Given the description of an element on the screen output the (x, y) to click on. 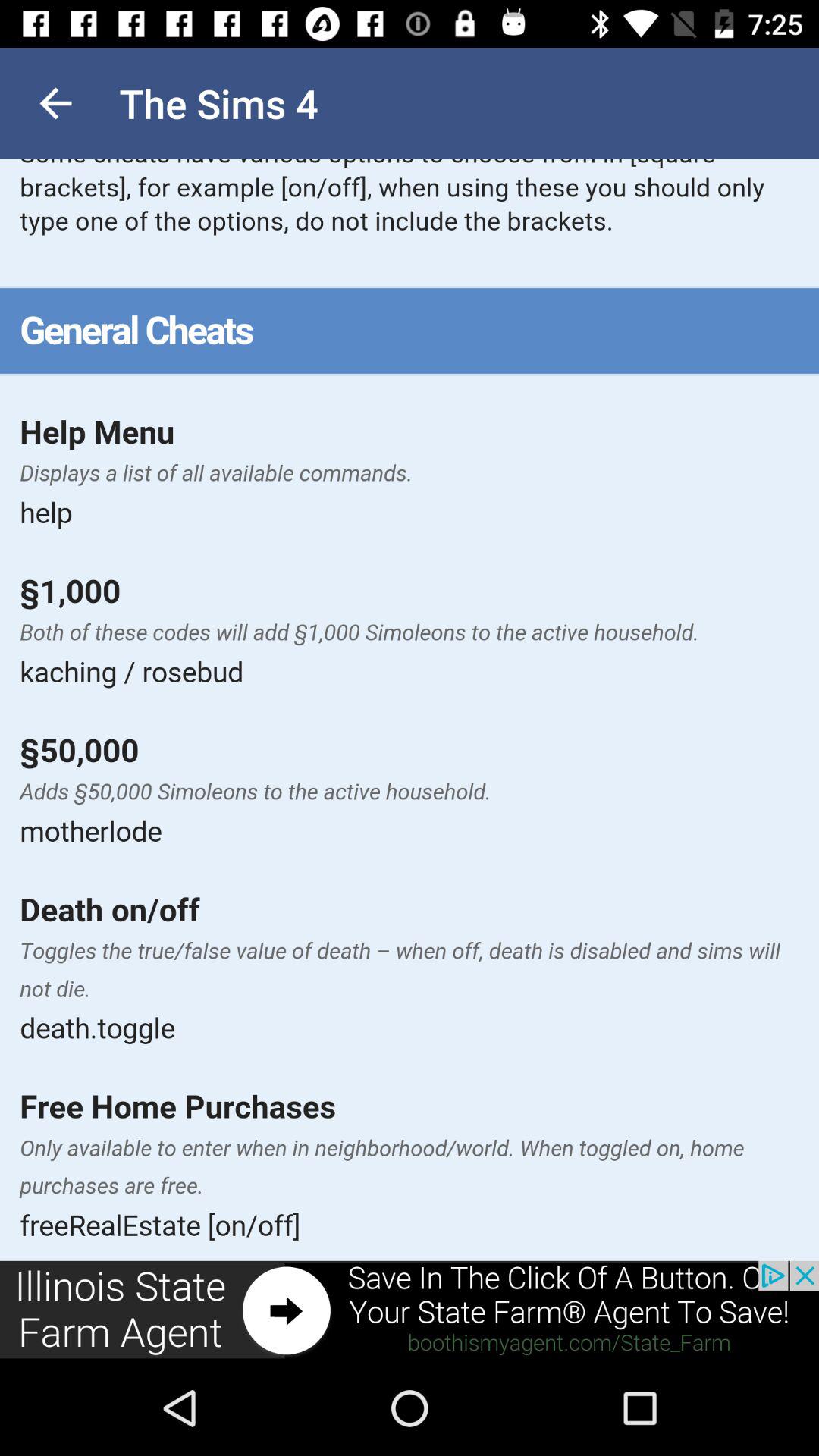
app screen area (409, 709)
